Given the description of an element on the screen output the (x, y) to click on. 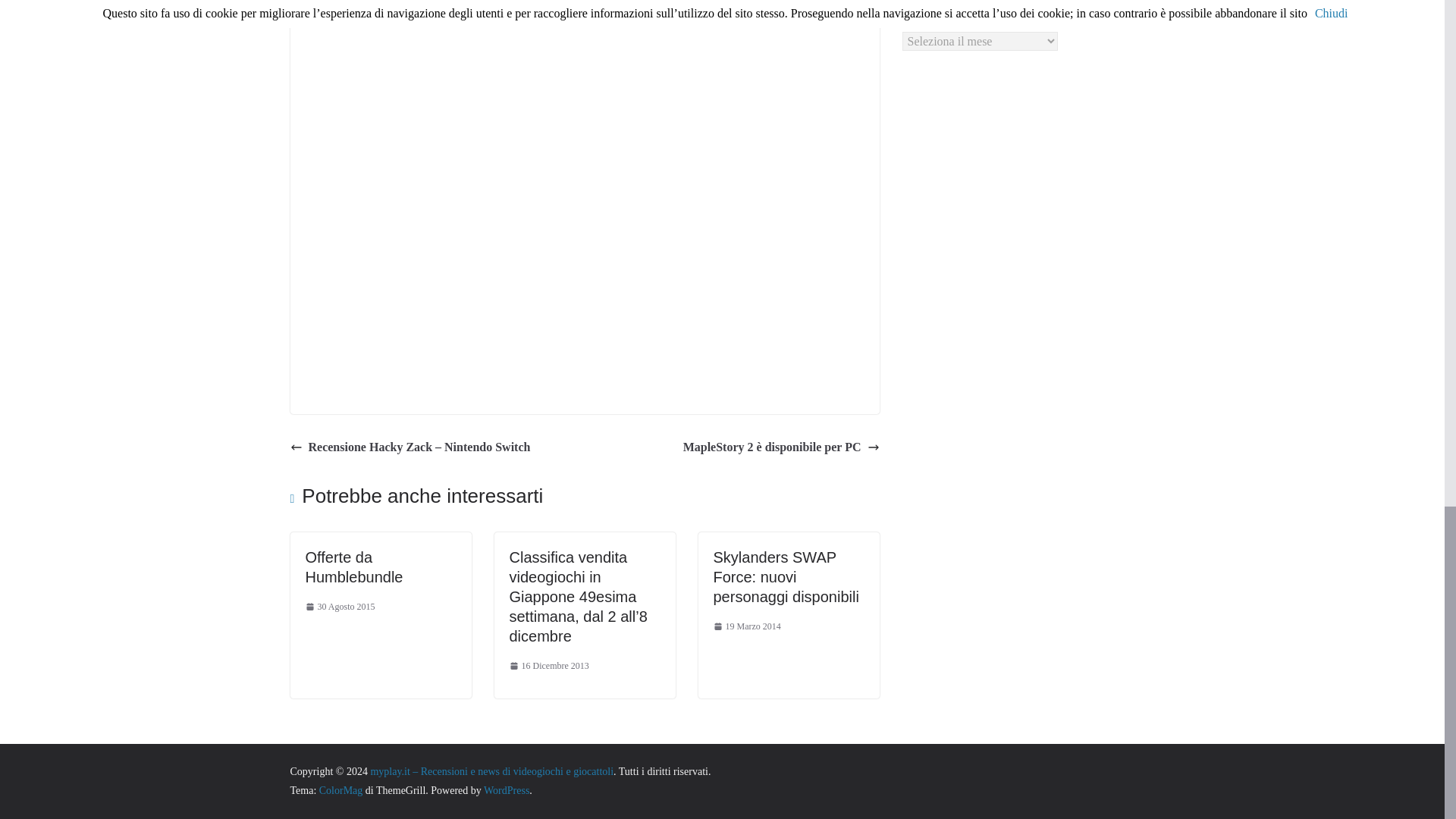
Offerte da Humblebundle (353, 566)
Offerte da Humblebundle (353, 566)
17:58 (746, 627)
19:24 (339, 606)
Skylanders SWAP Force: nuovi personaggi disponibili (786, 576)
Skylanders SWAP Force: nuovi personaggi disponibili (786, 576)
19 Marzo 2014 (746, 627)
11:03 (549, 666)
30 Agosto 2015 (339, 606)
16 Dicembre 2013 (549, 666)
